Given the description of an element on the screen output the (x, y) to click on. 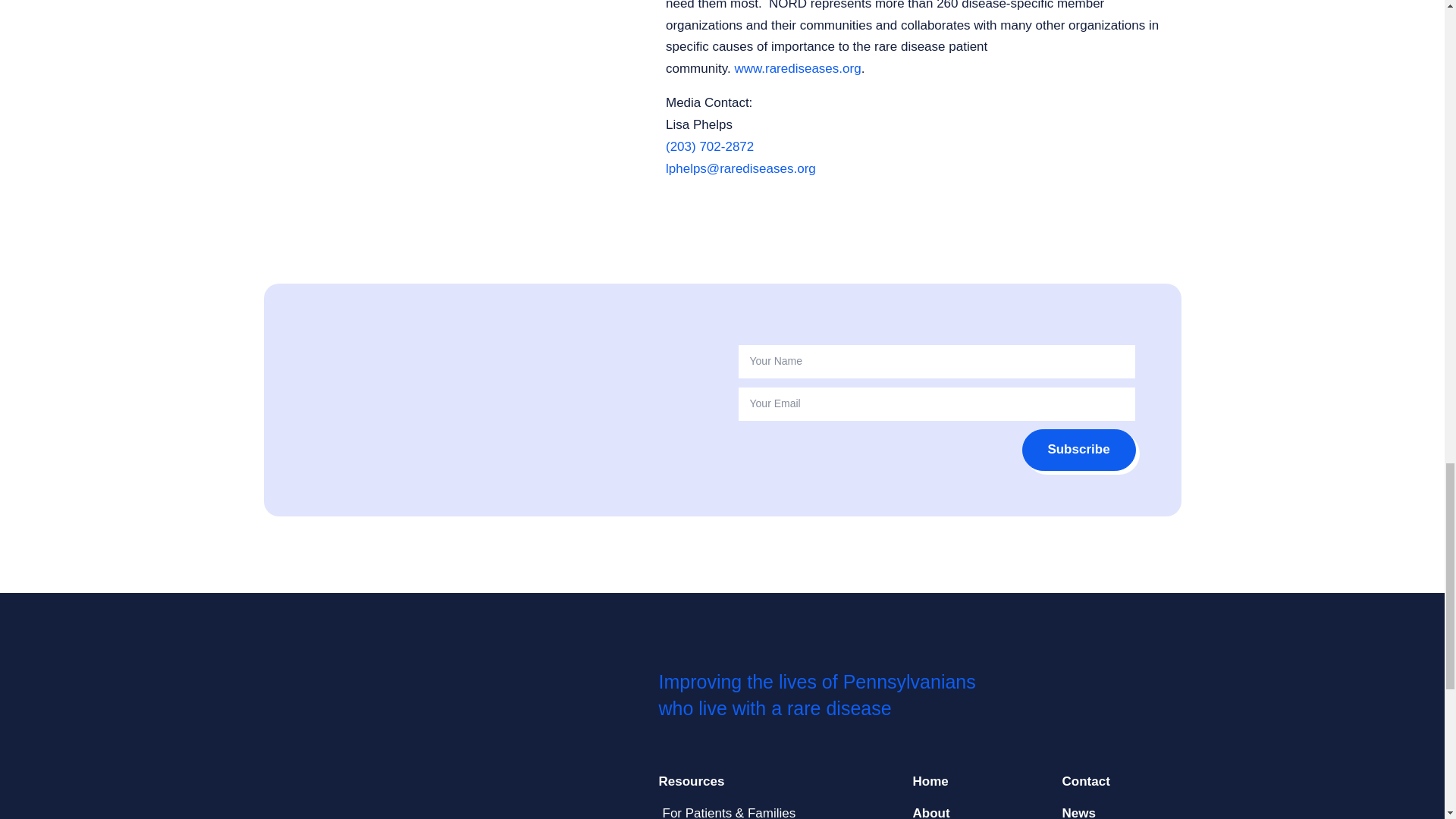
PA-rare-disease-logo-white-06 (357, 725)
Resources (758, 781)
 www.rarediseases.org (795, 68)
Subscribe (1078, 449)
